Given the description of an element on the screen output the (x, y) to click on. 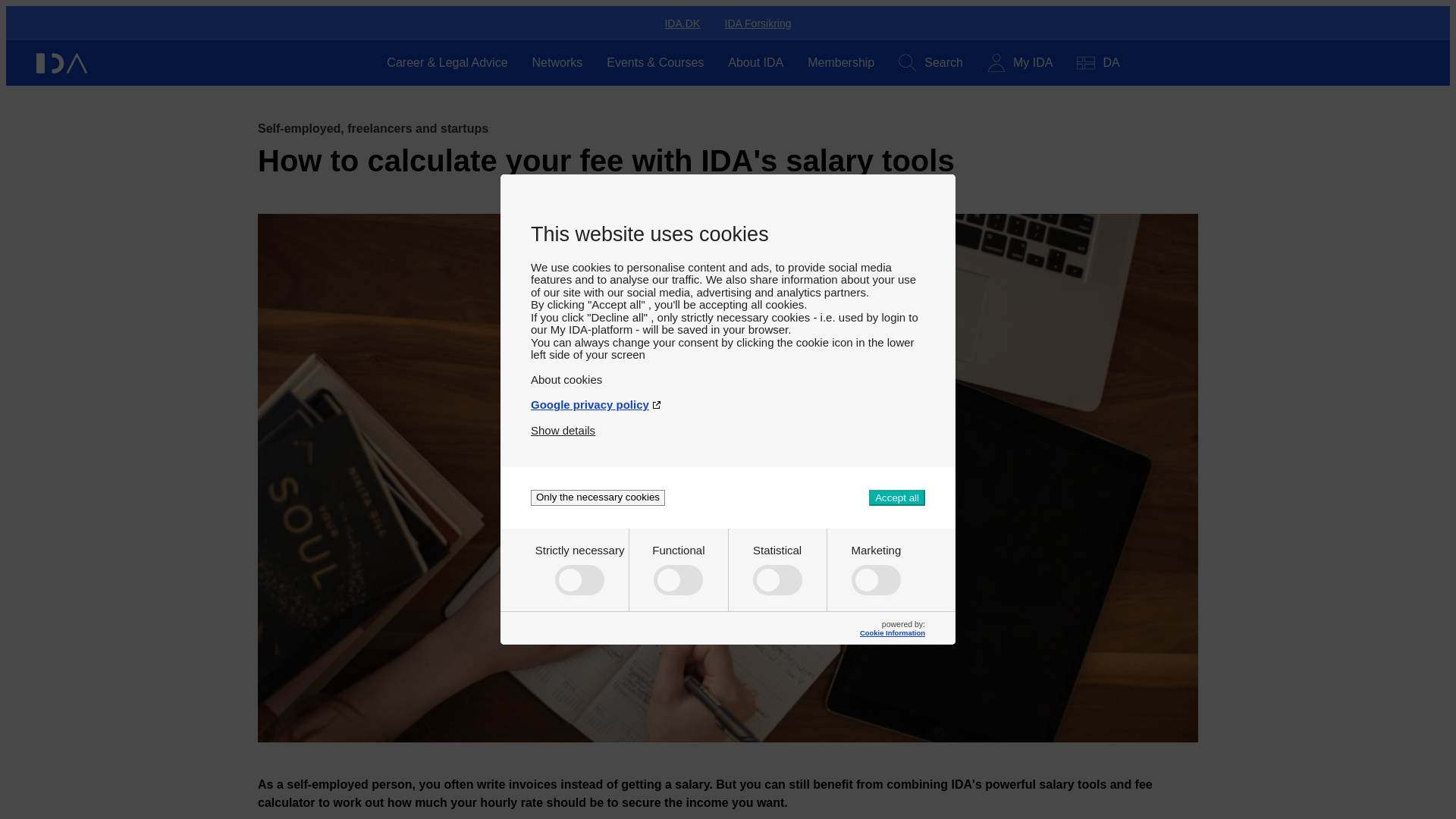
About cookies (727, 379)
Show details (563, 430)
Google privacy policy (727, 404)
